Given the description of an element on the screen output the (x, y) to click on. 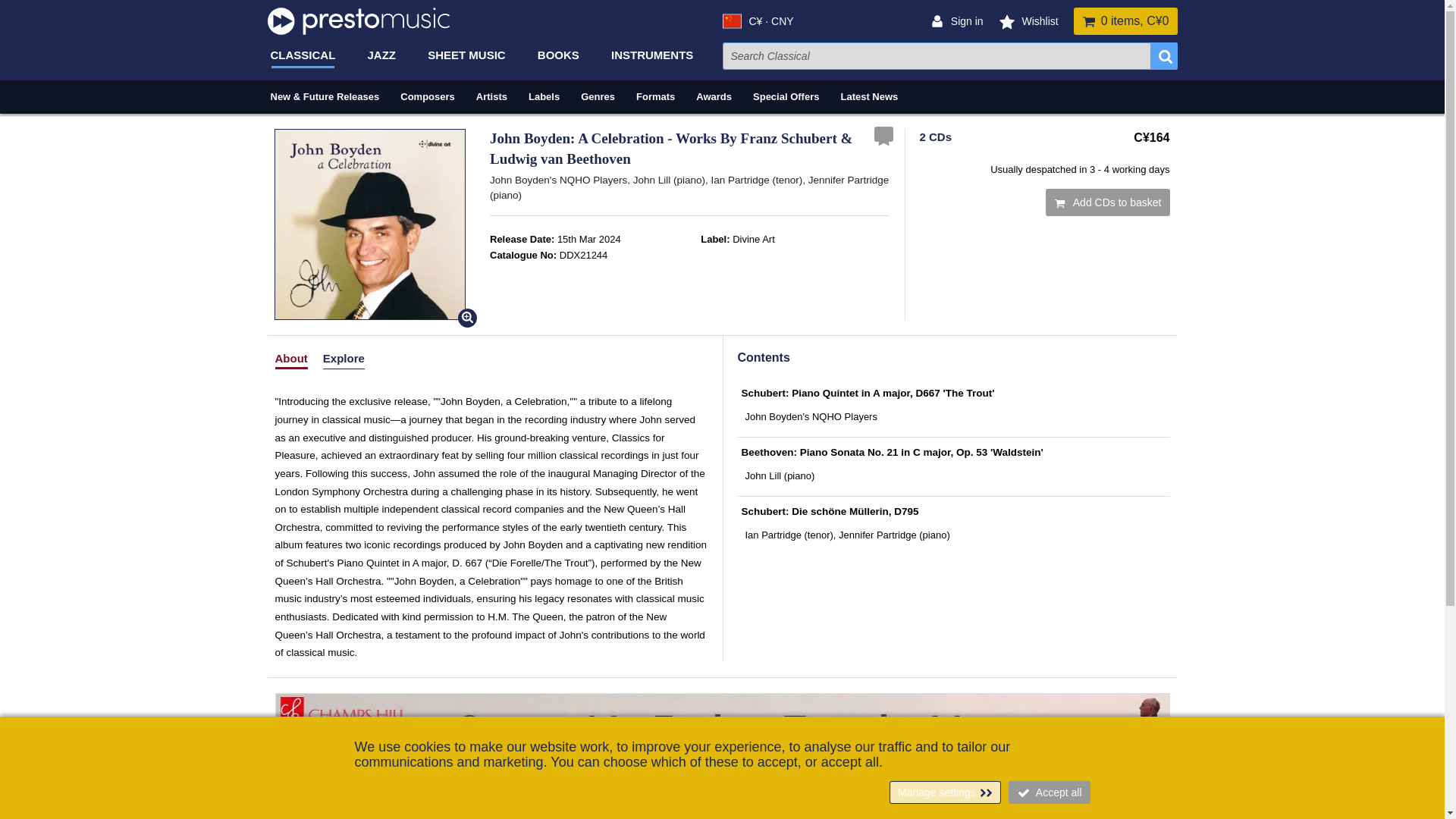
Wishlist (1037, 20)
View enlarged product image (370, 224)
Sign in (964, 20)
Add to wishlist (882, 133)
Help (1387, 759)
